Given the description of an element on the screen output the (x, y) to click on. 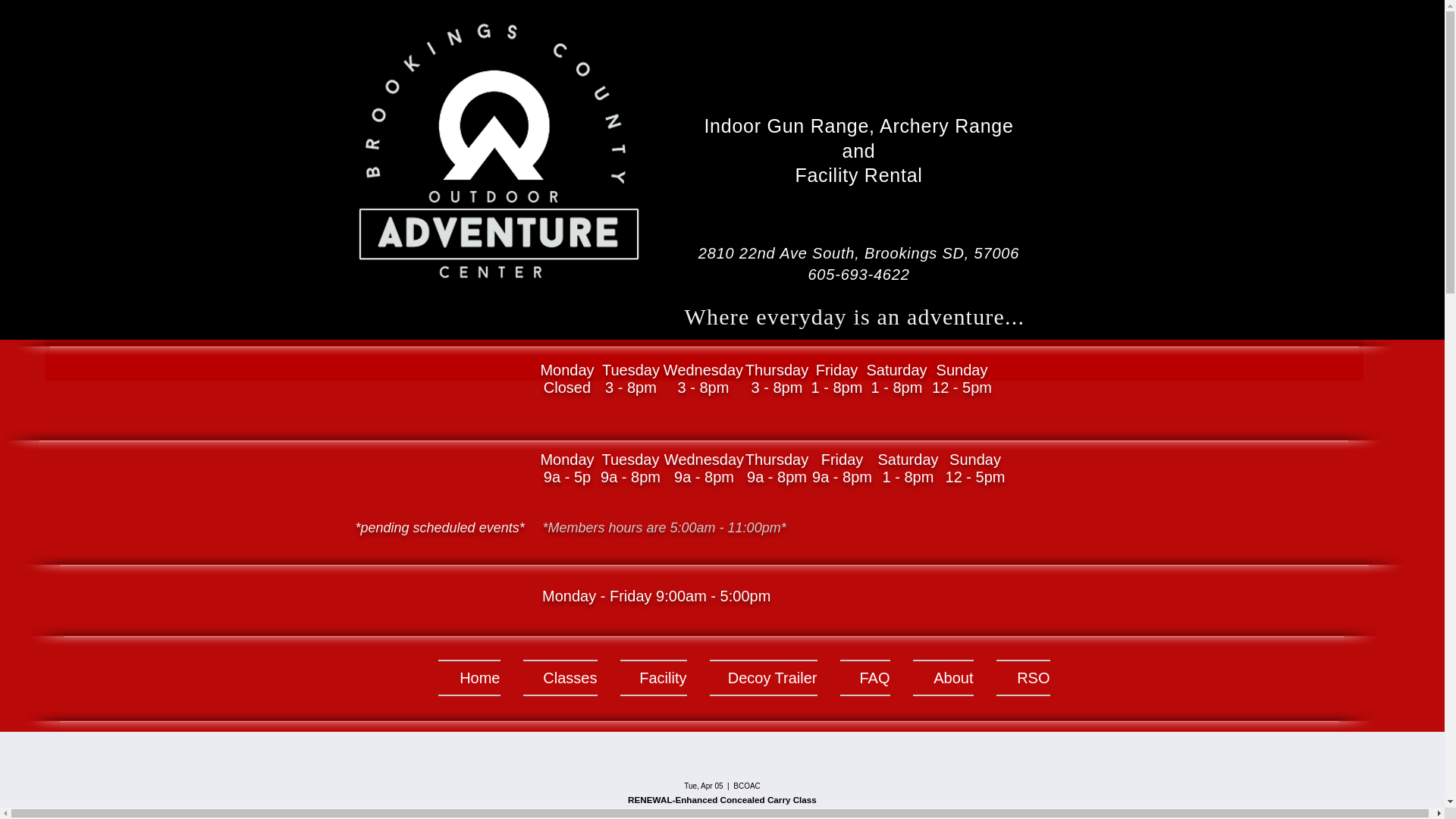
Home (475, 678)
FAQ (864, 678)
Facility (652, 678)
About (942, 678)
Decoy Trailer (762, 678)
Classes (559, 678)
Where everyday is an adventure... (854, 316)
RSO (1016, 678)
